Given the description of an element on the screen output the (x, y) to click on. 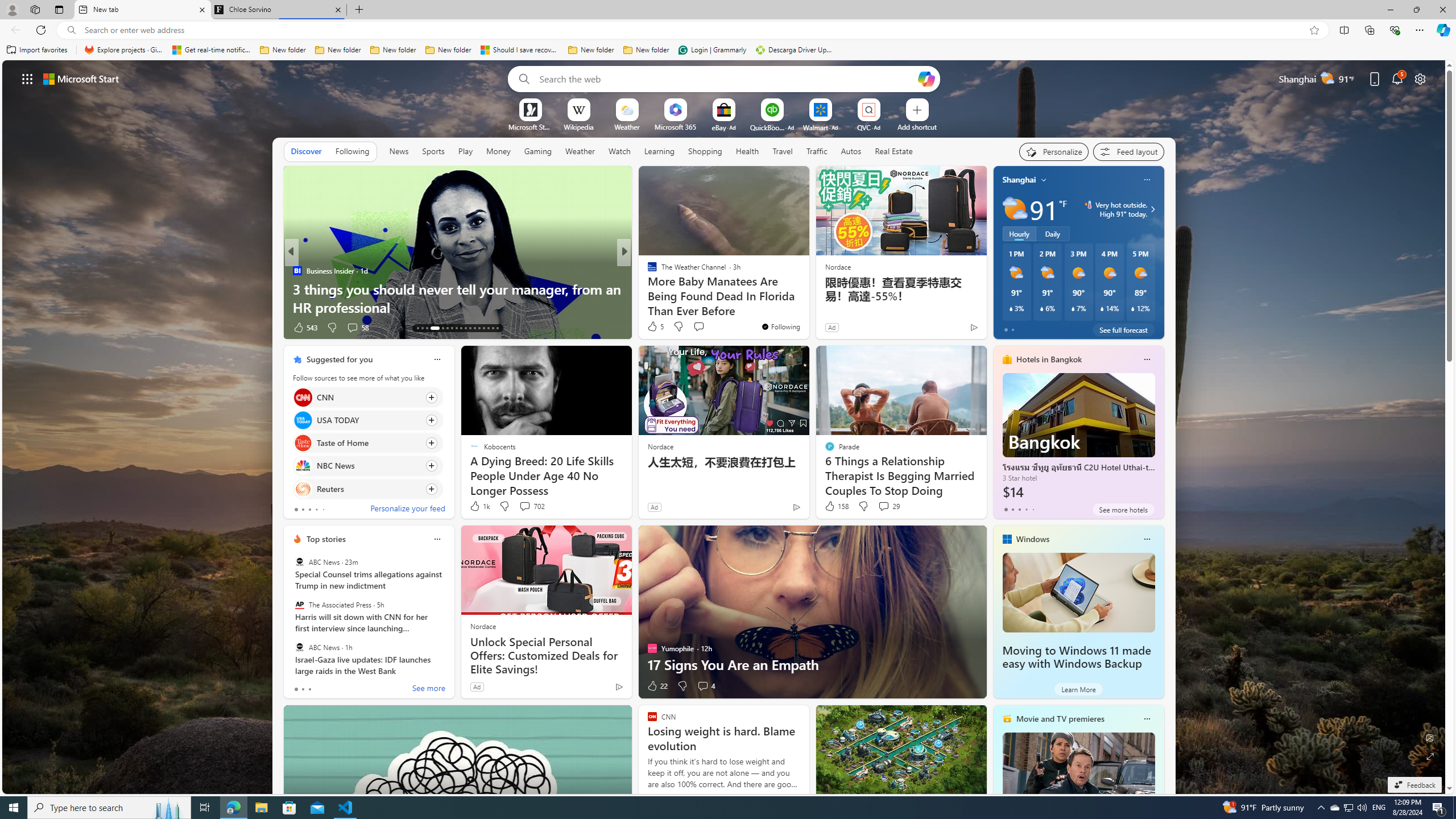
The Verge (647, 270)
9 Like (651, 327)
Play (465, 151)
See more hotels (1123, 509)
Sports (432, 151)
Personalize your feed" (1054, 151)
Movie and TV premieres (1060, 718)
151 Like (654, 327)
News (398, 151)
You're following The Weather Channel (780, 326)
Moving to Windows 11 made easy with Windows Backup (1077, 592)
Gaming (537, 151)
Personalize your feed (407, 509)
